Given the description of an element on the screen output the (x, y) to click on. 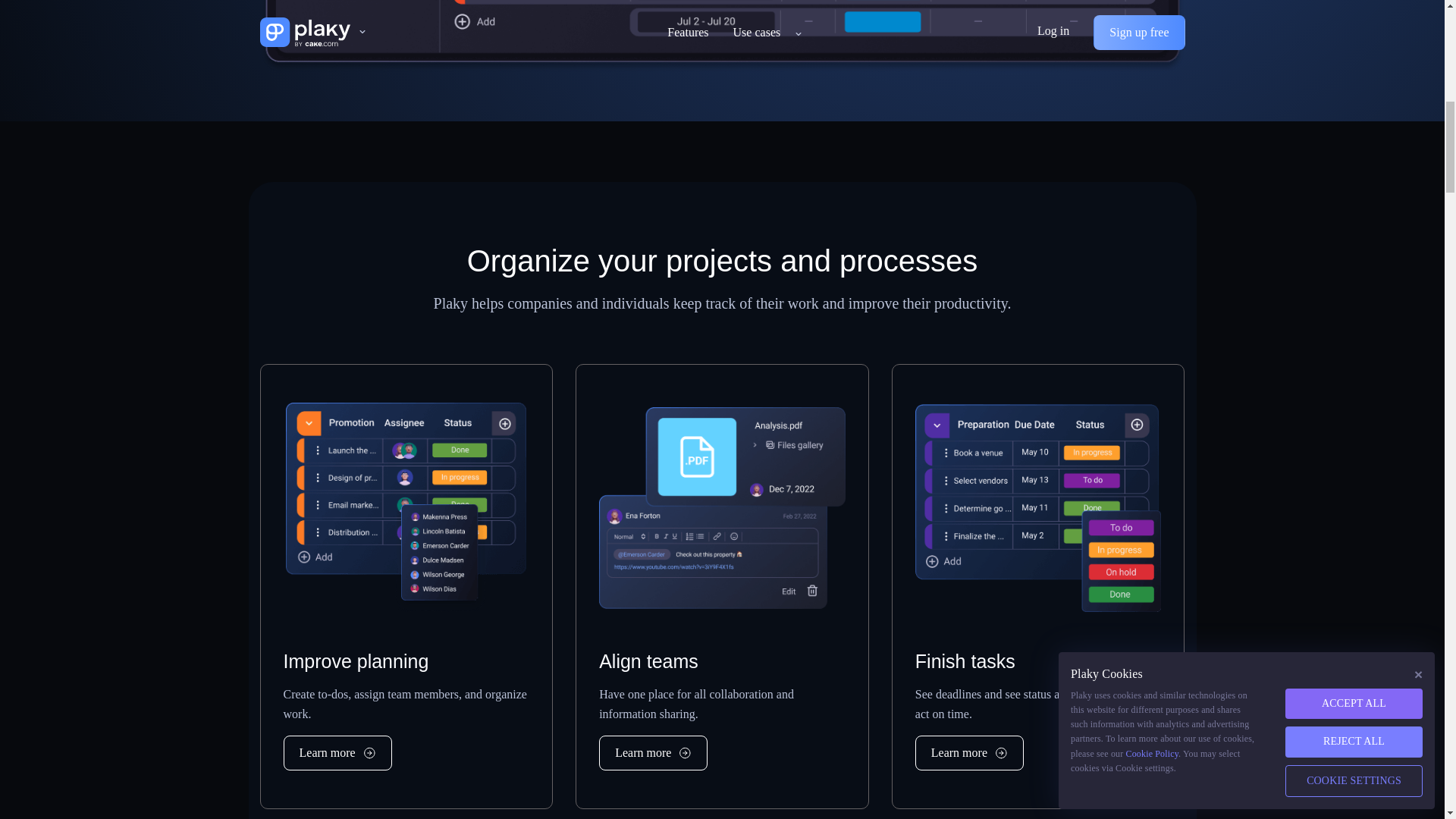
Learn more (969, 752)
Learn more (652, 752)
Learn more (337, 752)
